Given the description of an element on the screen output the (x, y) to click on. 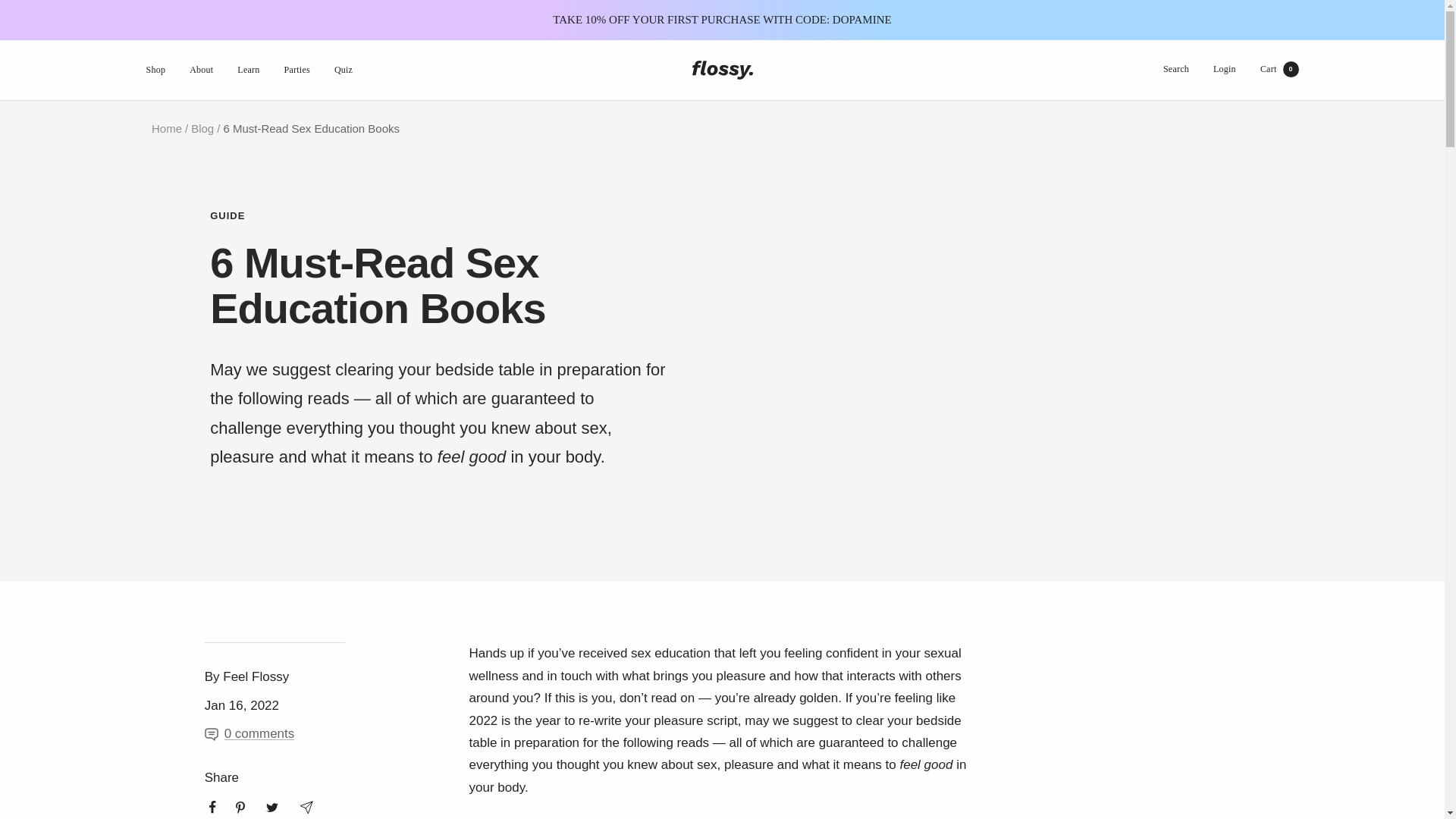
Learn (248, 69)
Parties (296, 69)
flossy (721, 69)
Quiz (343, 69)
Search (1176, 68)
Shop (155, 69)
Login (1224, 68)
About (1279, 68)
